Given the description of an element on the screen output the (x, y) to click on. 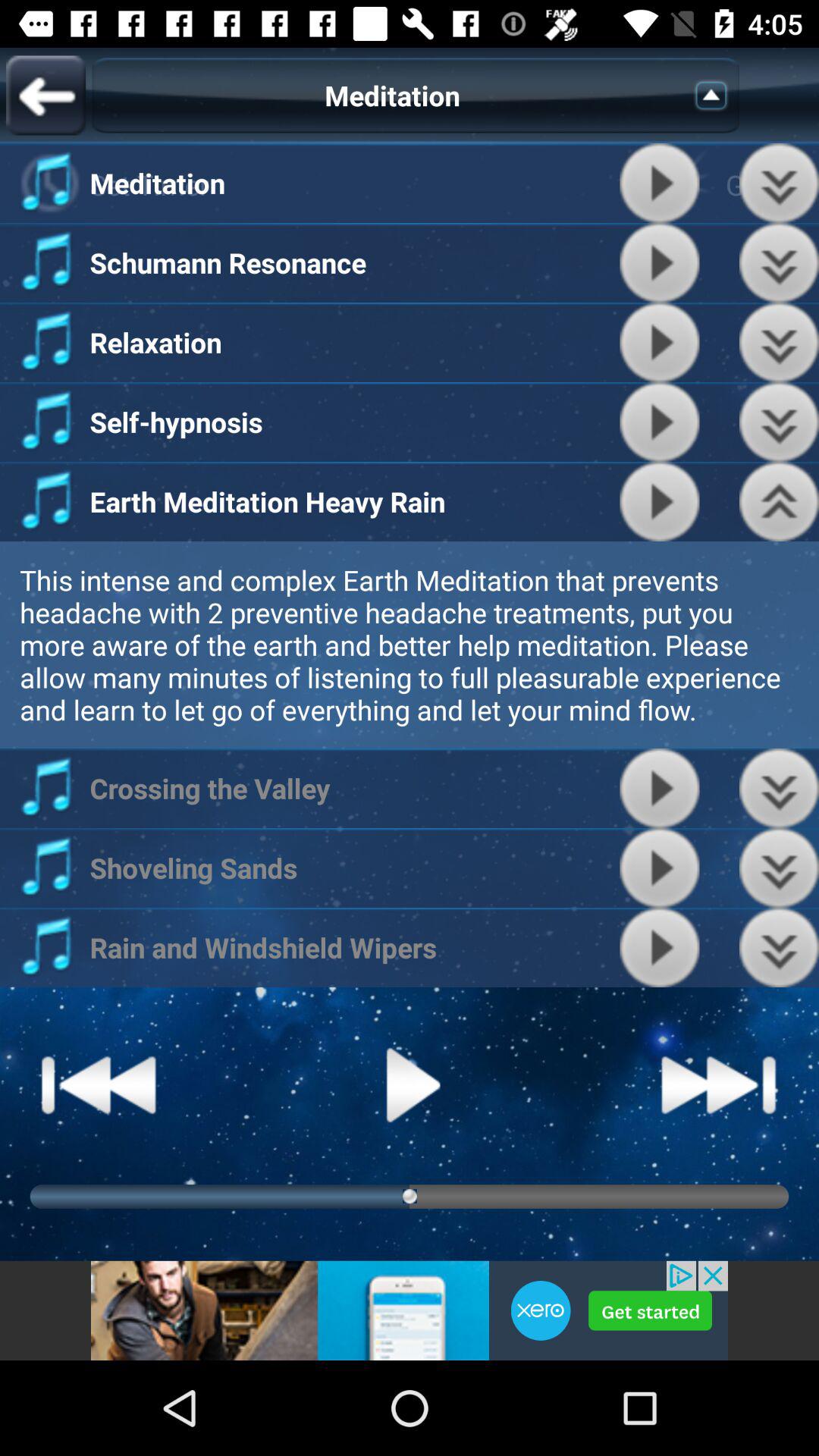
play (659, 501)
